Given the description of an element on the screen output the (x, y) to click on. 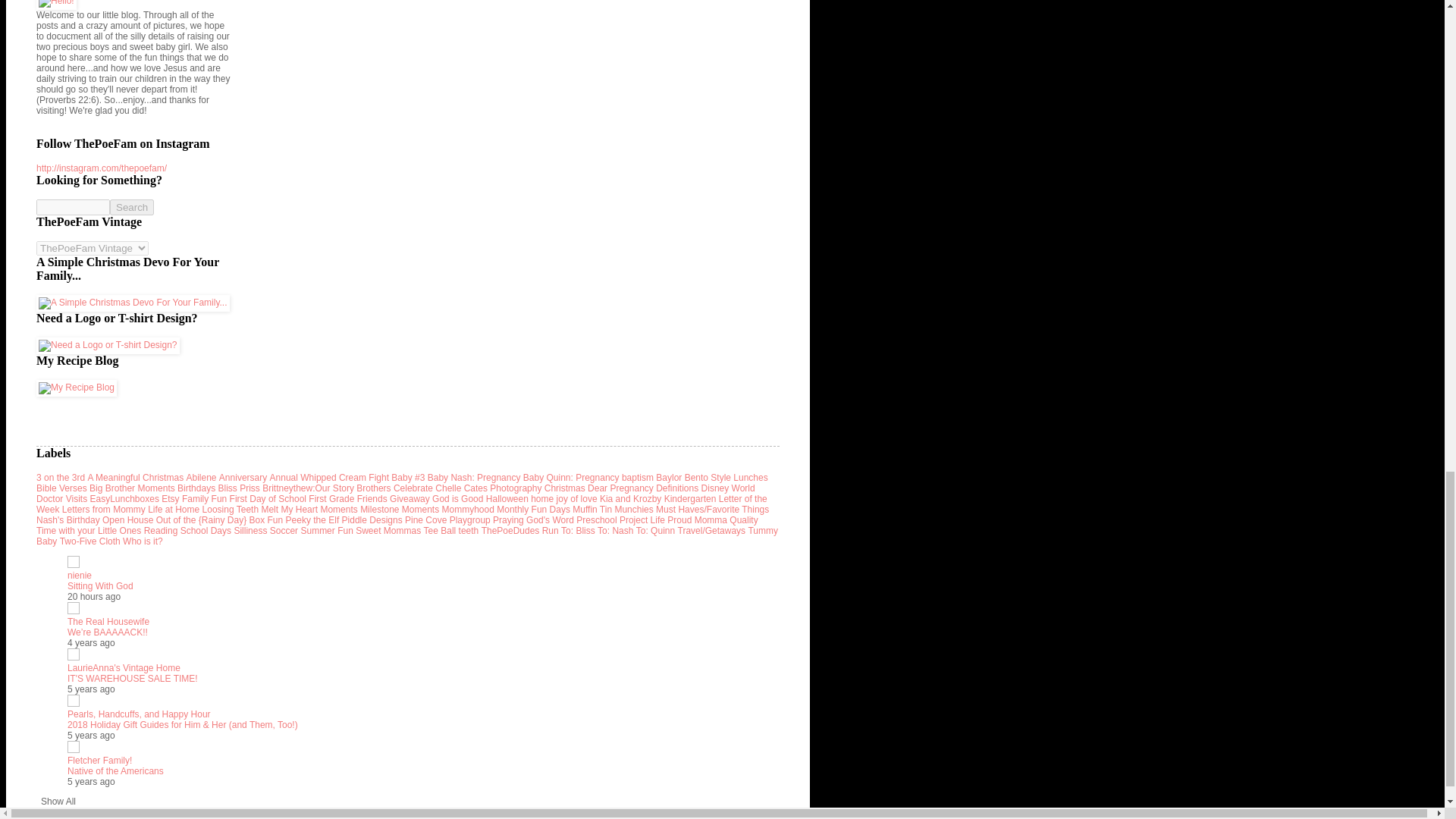
Abilene (200, 477)
A Meaningful Christmas (135, 477)
3 on the 3rd (60, 477)
Anniversary (242, 477)
Search (132, 207)
Annual Whipped Cream Fight (328, 477)
Baby Nash: Pregnancy (474, 477)
Search (132, 207)
Search (132, 207)
